Given the description of an element on the screen output the (x, y) to click on. 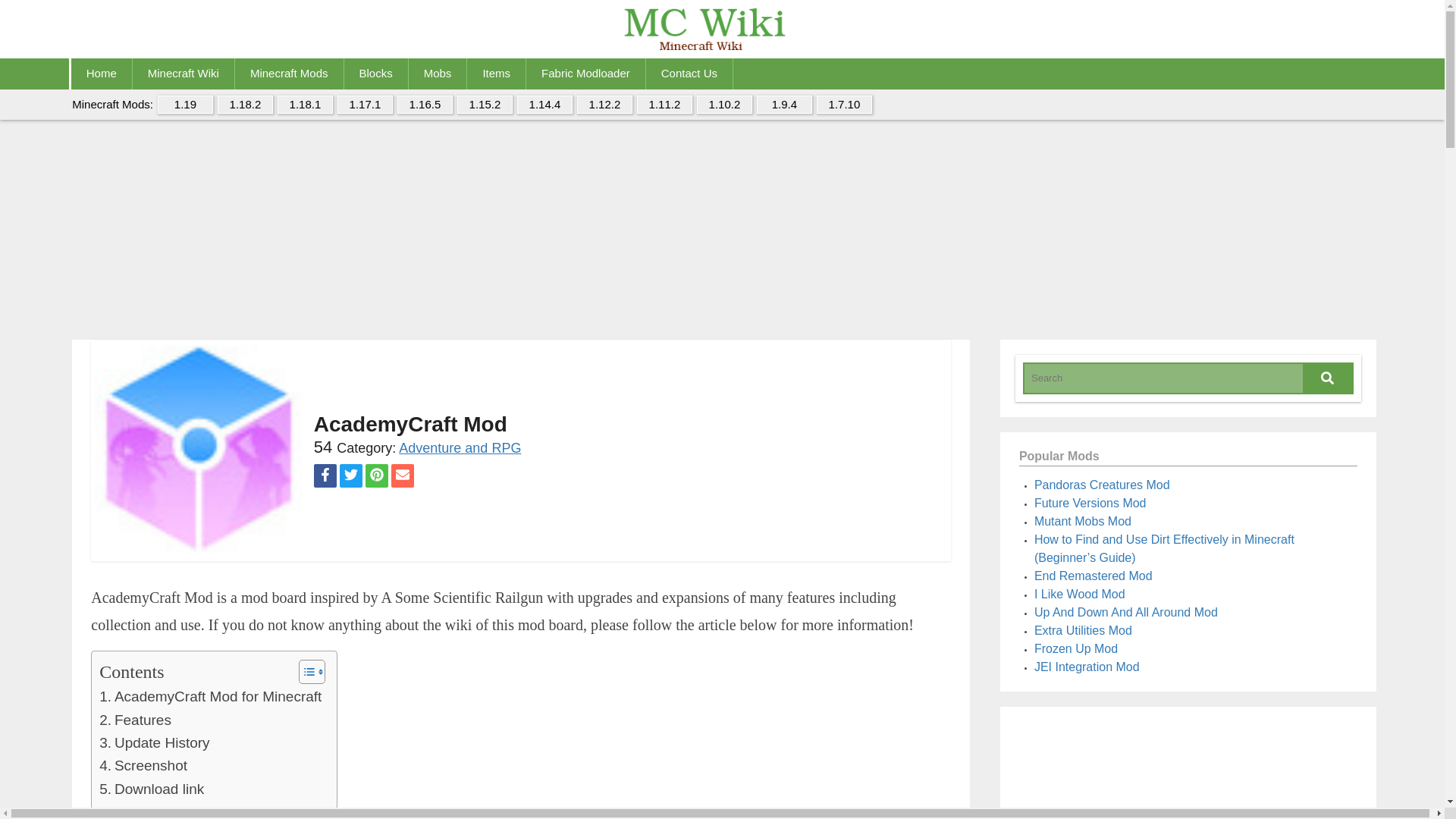
Contact Us (689, 73)
MC Wiki (722, 31)
Screenshot (143, 765)
1.9.4 (784, 104)
1.10.2 (724, 104)
Minecraft Wiki (183, 73)
Features (135, 720)
Fabric Modloader (585, 73)
Mobs (438, 73)
Features (135, 720)
1.18.1 (305, 104)
1.12.2 (603, 104)
1.11.2 (665, 104)
Home (101, 73)
1.16.5 (424, 104)
